Given the description of an element on the screen output the (x, y) to click on. 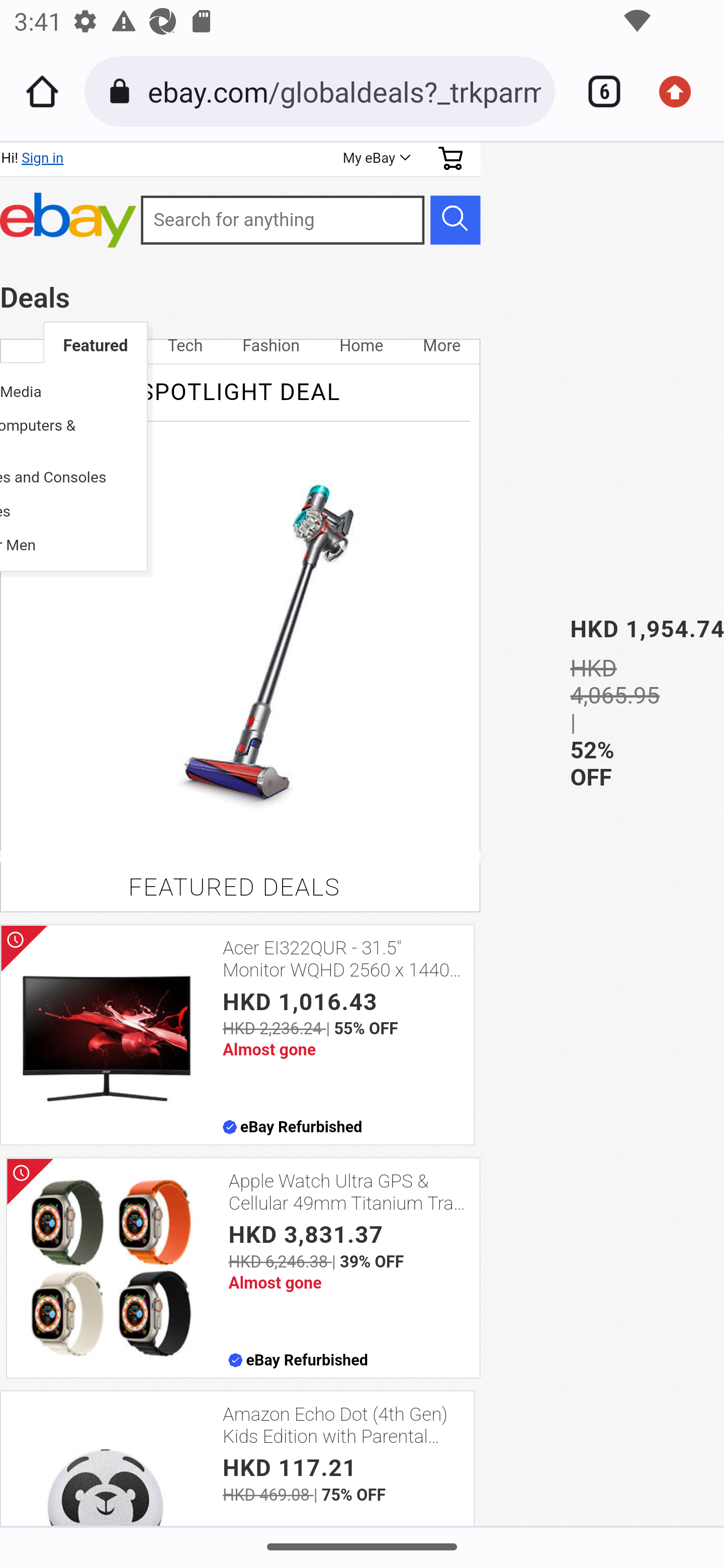
Home (42, 91)
Connection is secure (122, 91)
Switch or close tabs (597, 91)
Update available. More options (681, 91)
Your shopping cart (450, 158)
My eBay (375, 158)
Sign in (41, 157)
eBay Home (68, 220)
Search (454, 219)
Deals (35, 297)
Featured Current View Featured (95, 345)
Tech (184, 345)
Fashion (270, 345)
Home (361, 345)
More (441, 345)
